Given the description of an element on the screen output the (x, y) to click on. 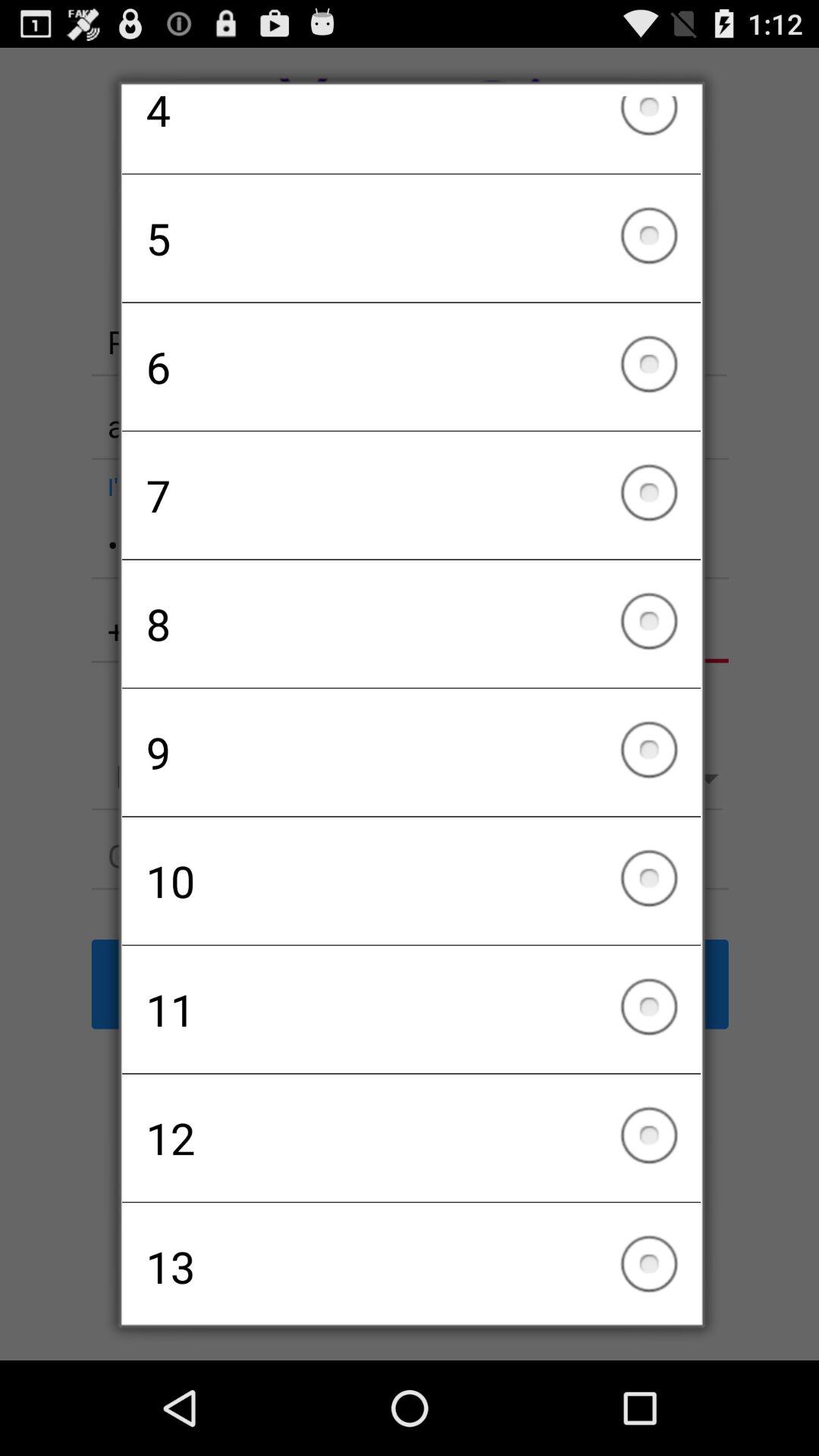
open the 4 (411, 134)
